Given the description of an element on the screen output the (x, y) to click on. 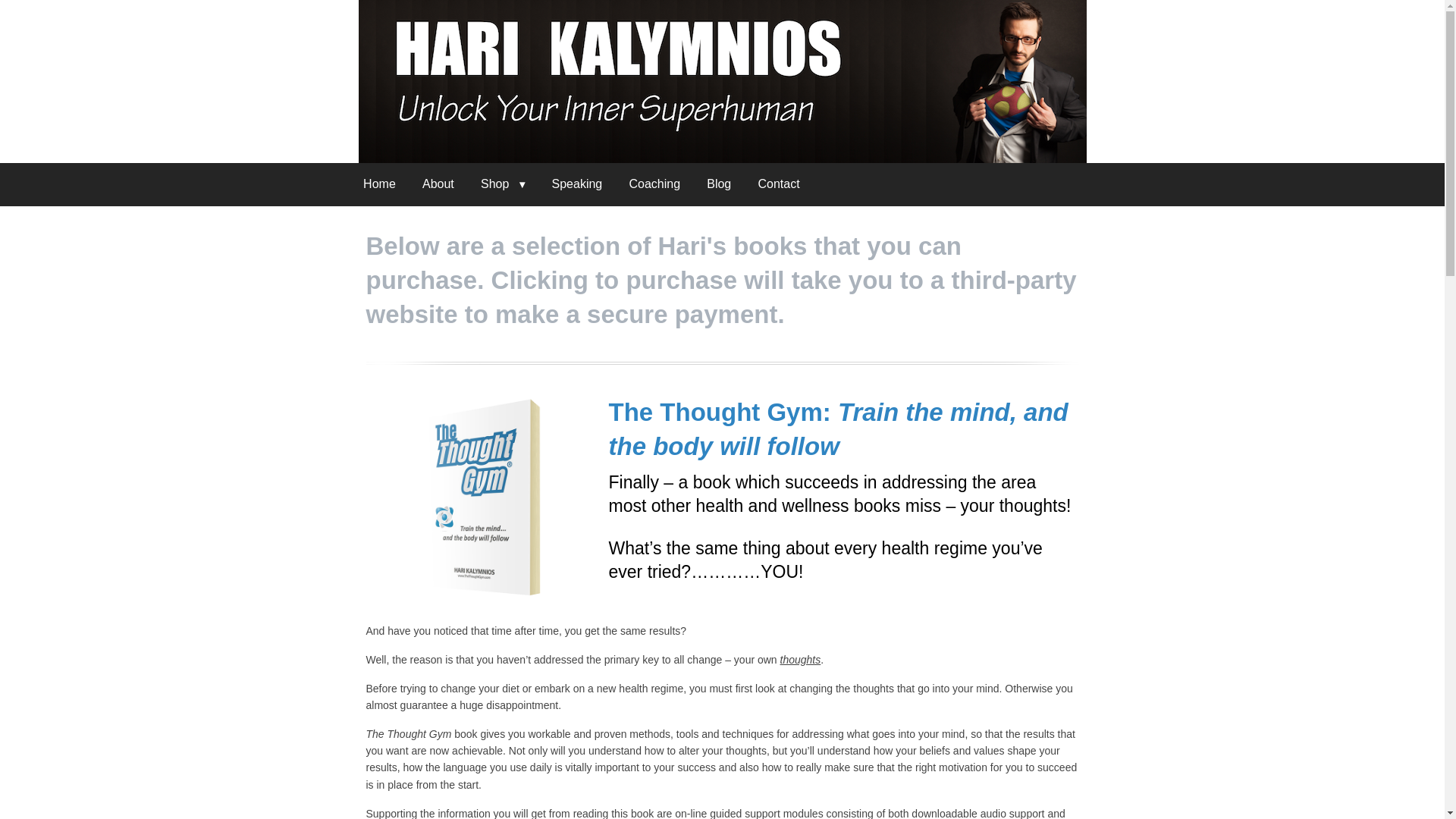
Contact (778, 184)
Blog (719, 184)
Coaching (654, 184)
Home (379, 184)
Shop (502, 184)
Speaking (576, 184)
About (438, 184)
Hari Kalymnios (722, 81)
